Given the description of an element on the screen output the (x, y) to click on. 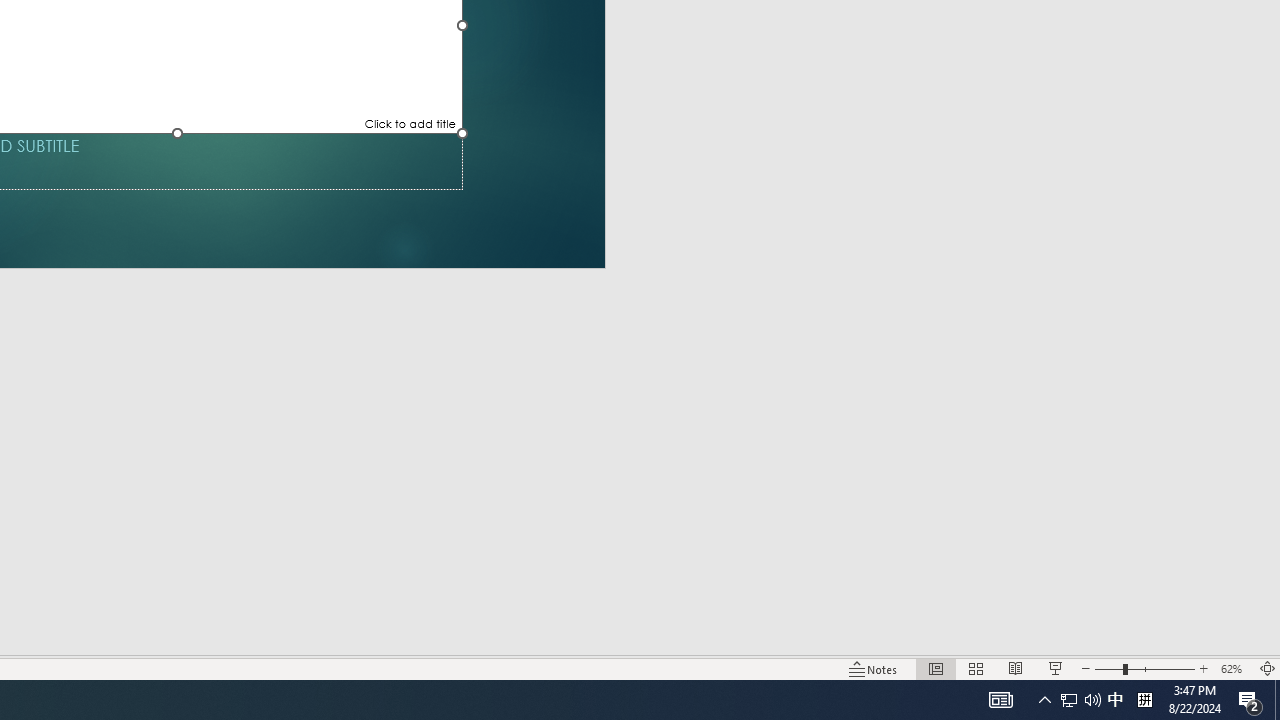
Zoom 62% (1234, 668)
